Given the description of an element on the screen output the (x, y) to click on. 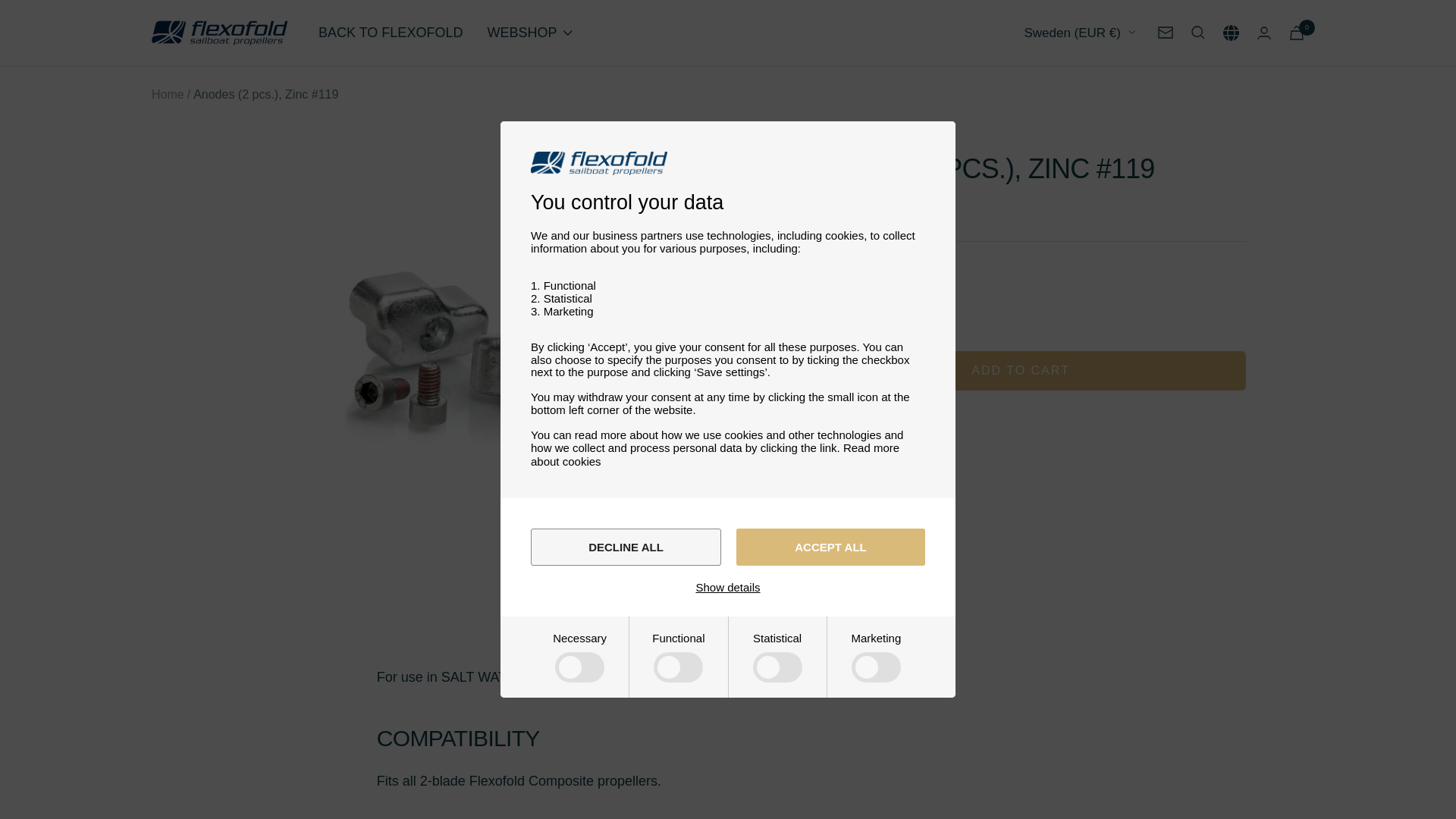
ACCEPT ALL (830, 546)
Read more about cookies (715, 454)
DECLINE ALL (625, 546)
1 (851, 308)
Show details (727, 586)
